Given the description of an element on the screen output the (x, y) to click on. 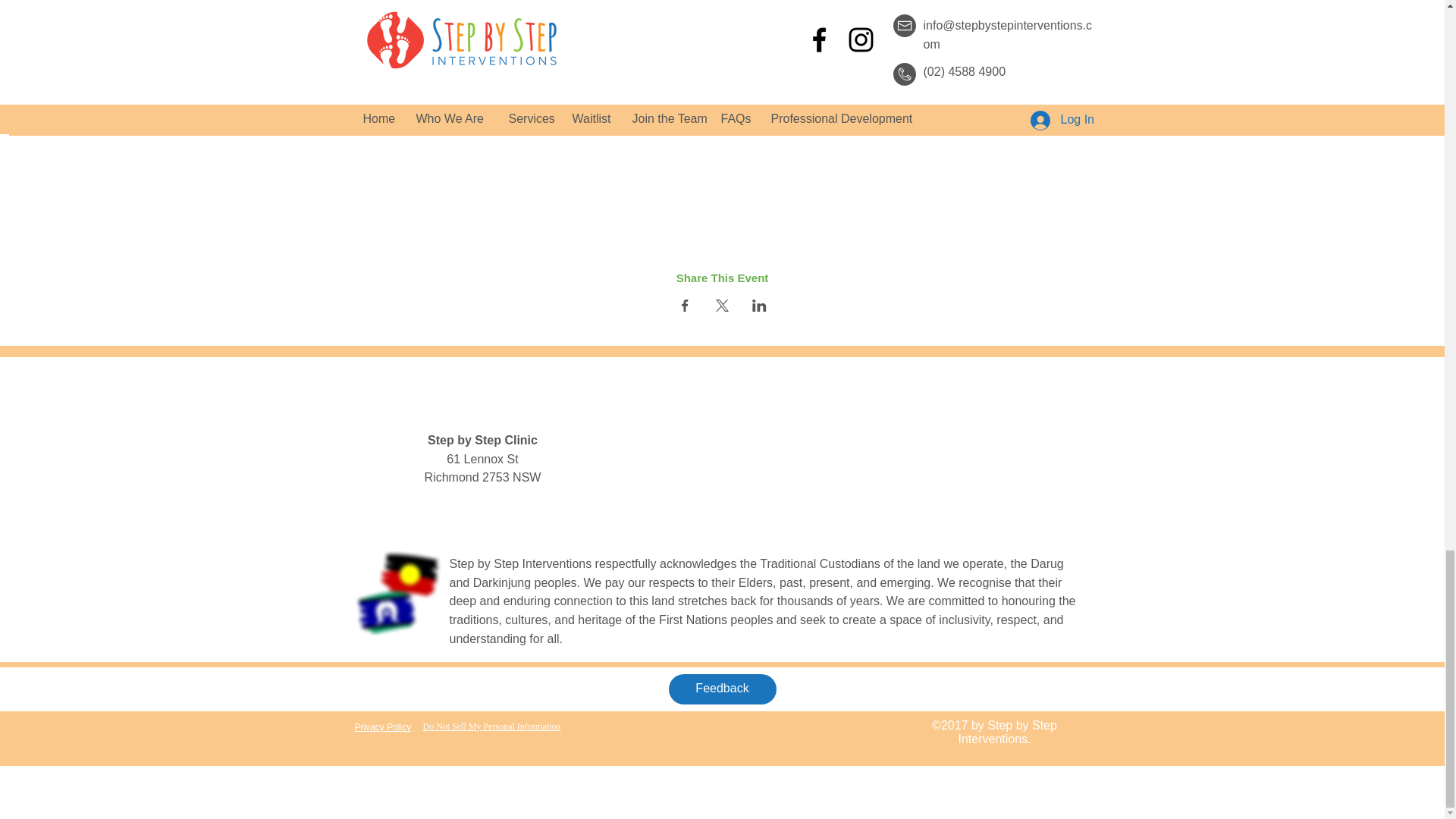
Do Not Sell My Personal Information (491, 726)
Privacy Policy (383, 726)
Feedback (722, 689)
